Given the description of an element on the screen output the (x, y) to click on. 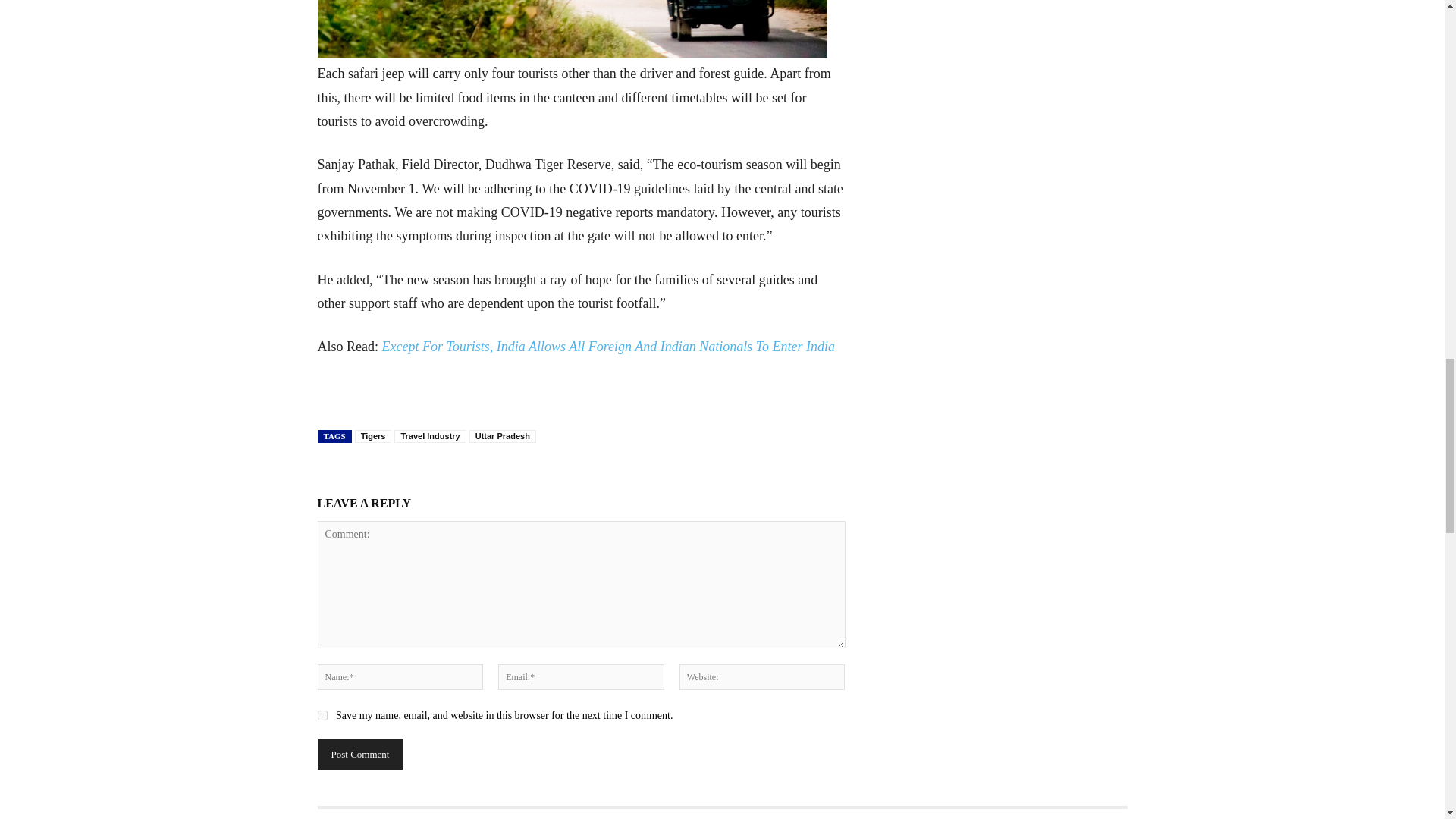
Uttar Pradesh (501, 436)
yes (321, 715)
Post Comment (360, 754)
Tigers (373, 436)
Post Comment (360, 754)
Travel Industry (429, 436)
